Given the description of an element on the screen output the (x, y) to click on. 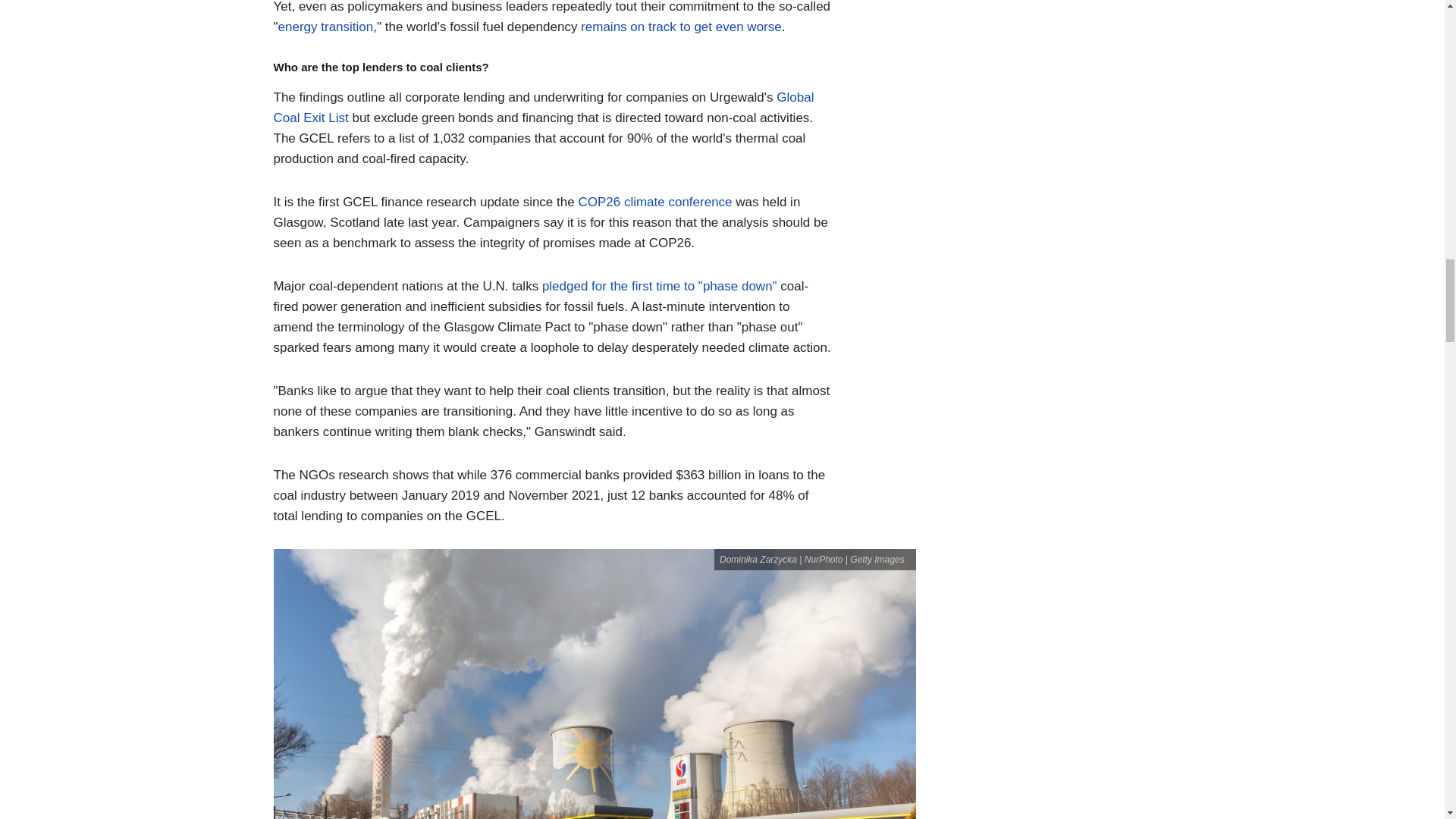
remains on track to get even worse (680, 26)
energy transition (326, 26)
